Given the description of an element on the screen output the (x, y) to click on. 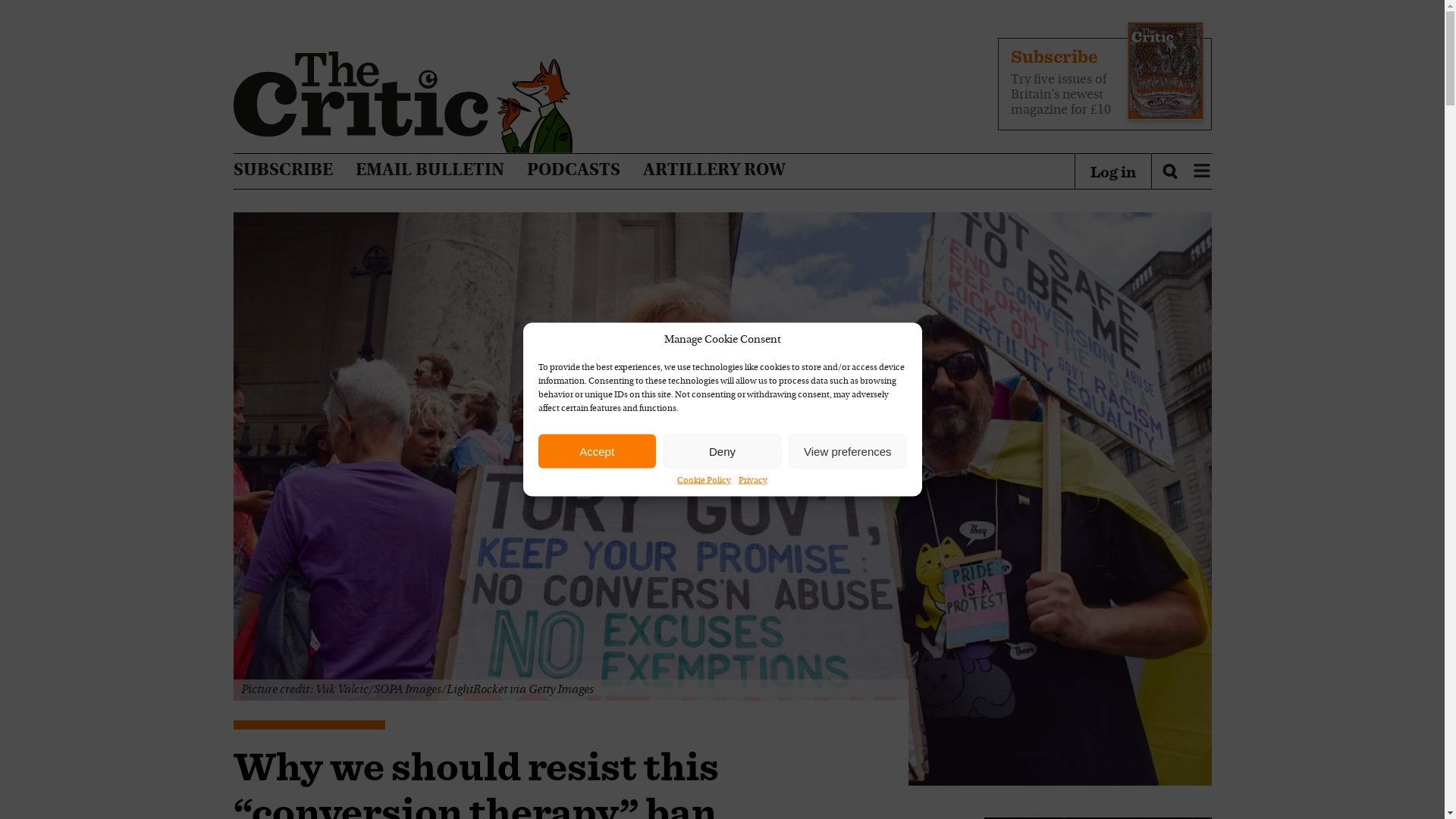
View preferences (847, 450)
Deny (721, 450)
Accept (597, 450)
Log in (1112, 171)
PODCASTS (572, 171)
ARTILLERY ROW (714, 171)
SUBSCRIBE (282, 171)
Privacy (752, 480)
EMAIL BULLETIN (429, 171)
Cookie Policy (703, 480)
